Given the description of an element on the screen output the (x, y) to click on. 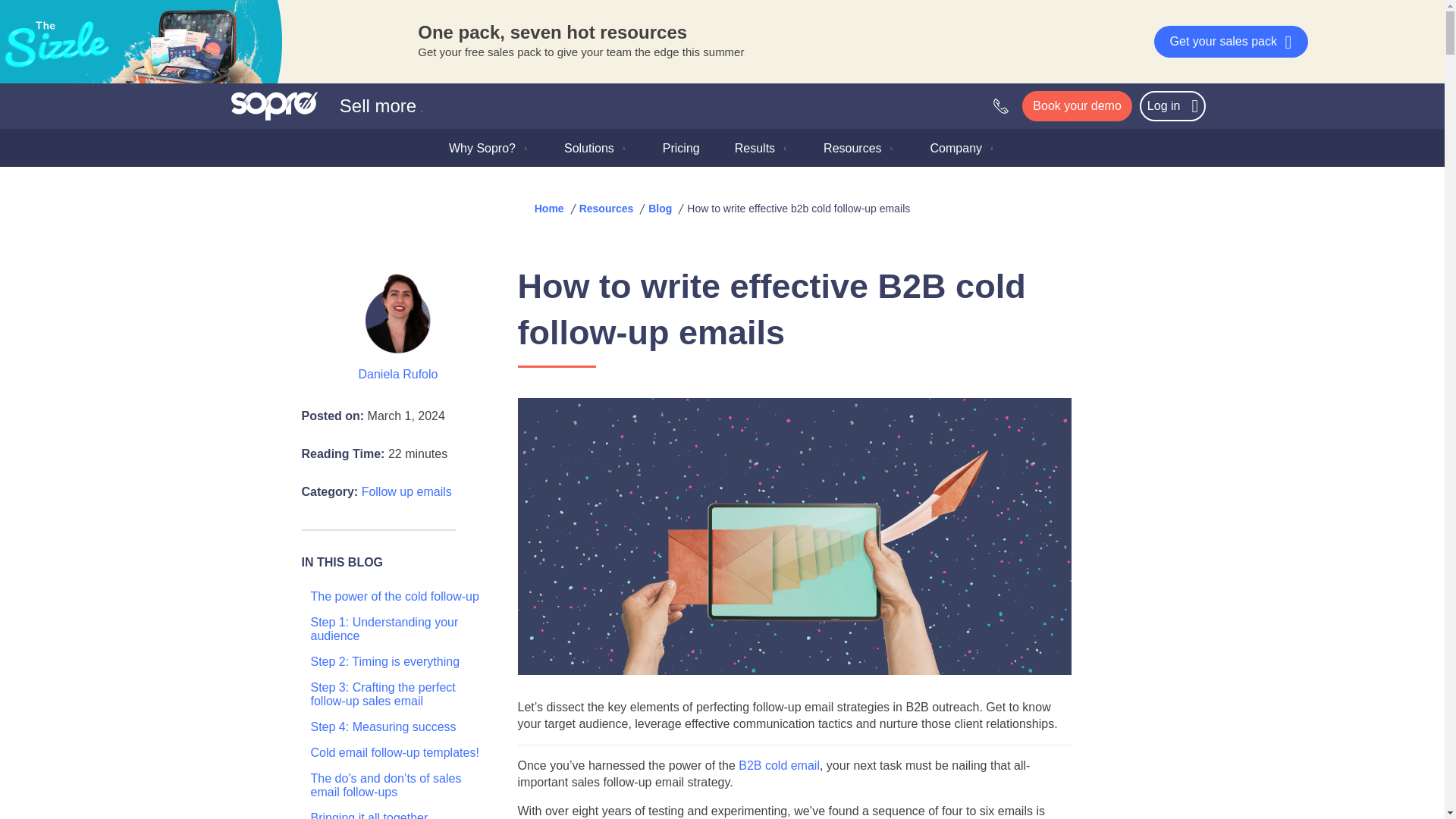
Solutions (595, 147)
Pricing (681, 147)
Results (761, 147)
Resources (858, 147)
Get your sales pack (1230, 41)
Why Sopro? (488, 147)
Solutions (595, 147)
Log in (1172, 105)
Pricing (681, 147)
Book your demo (1077, 105)
Results (761, 147)
Company (962, 147)
Get your sales pack (1230, 41)
Sell more . (327, 105)
Why Sopro? (488, 147)
